Given the description of an element on the screen output the (x, y) to click on. 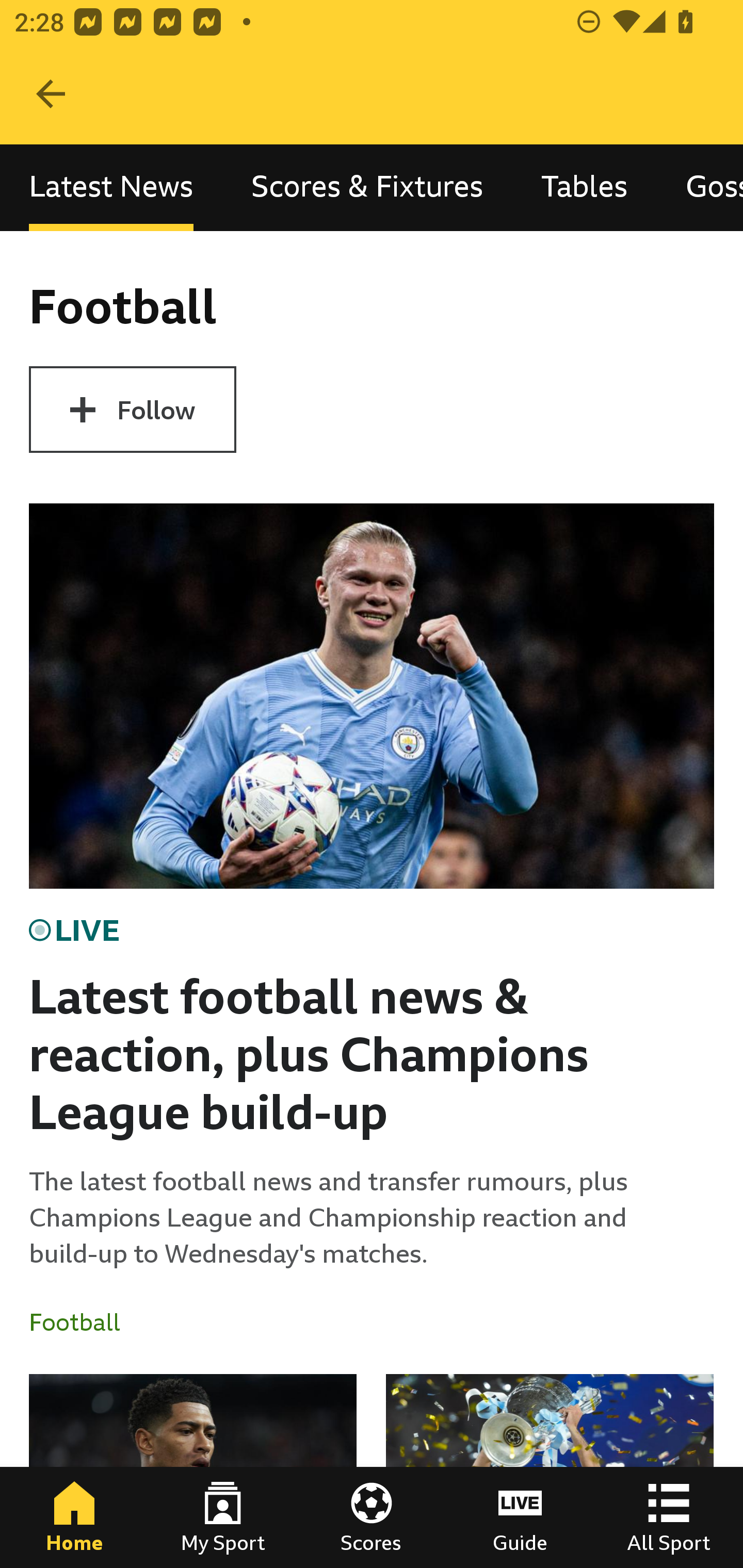
Navigate up (50, 93)
Latest News, selected Latest News (111, 187)
Scores & Fixtures (367, 187)
Tables (584, 187)
Follow Football Follow (132, 409)
My Sport (222, 1517)
Scores (371, 1517)
Guide (519, 1517)
All Sport (668, 1517)
